Given the description of an element on the screen output the (x, y) to click on. 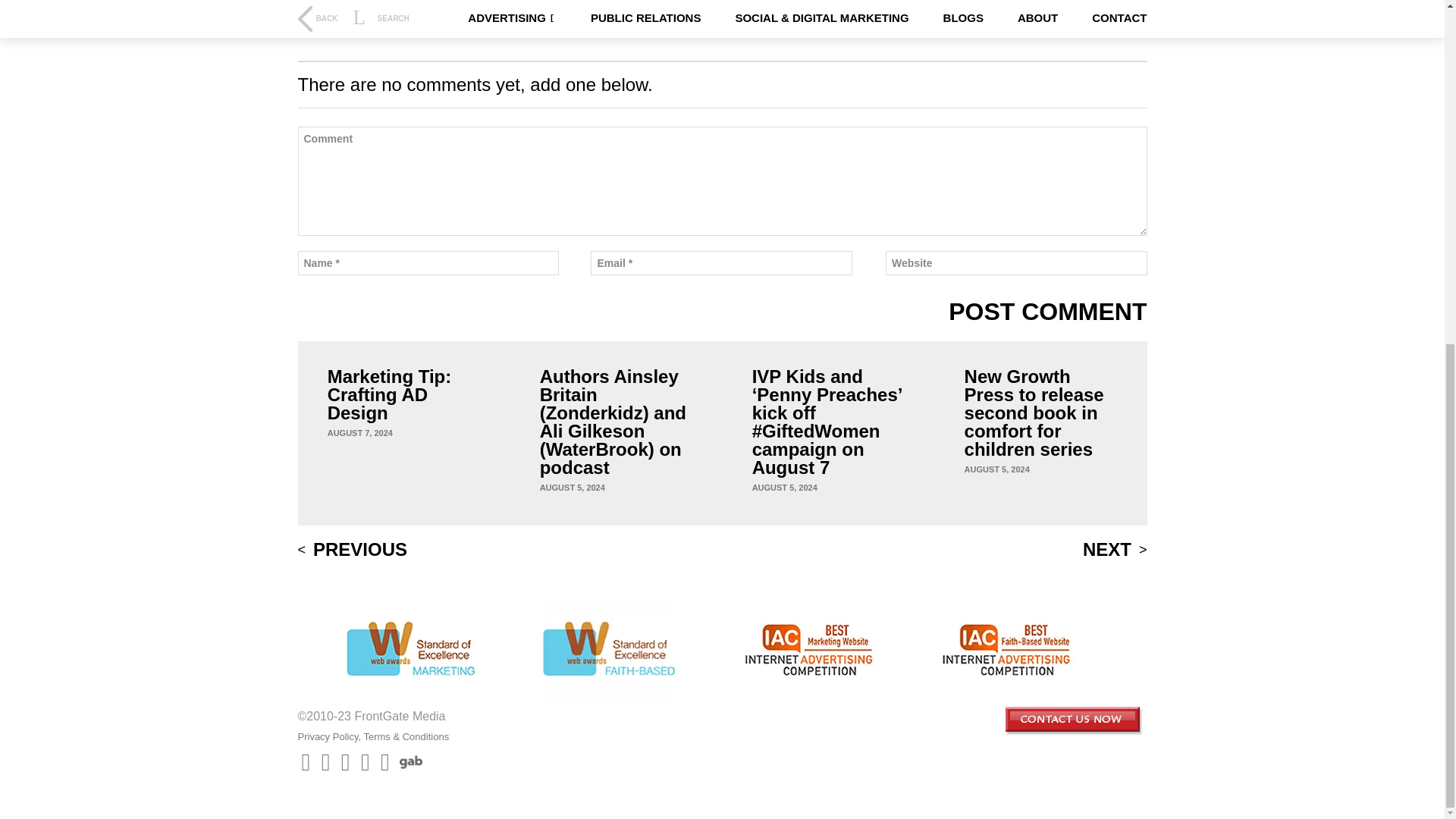
AUGUST 7, 2024 (360, 432)
AUGUST 5, 2024 (996, 469)
AUGUST 5, 2024 (572, 487)
NEXT (1115, 549)
Jesus Calling podcast (446, 7)
Post Comment (1048, 311)
PREVIOUS (352, 549)
AUGUST 5, 2024 (784, 487)
